Given the description of an element on the screen output the (x, y) to click on. 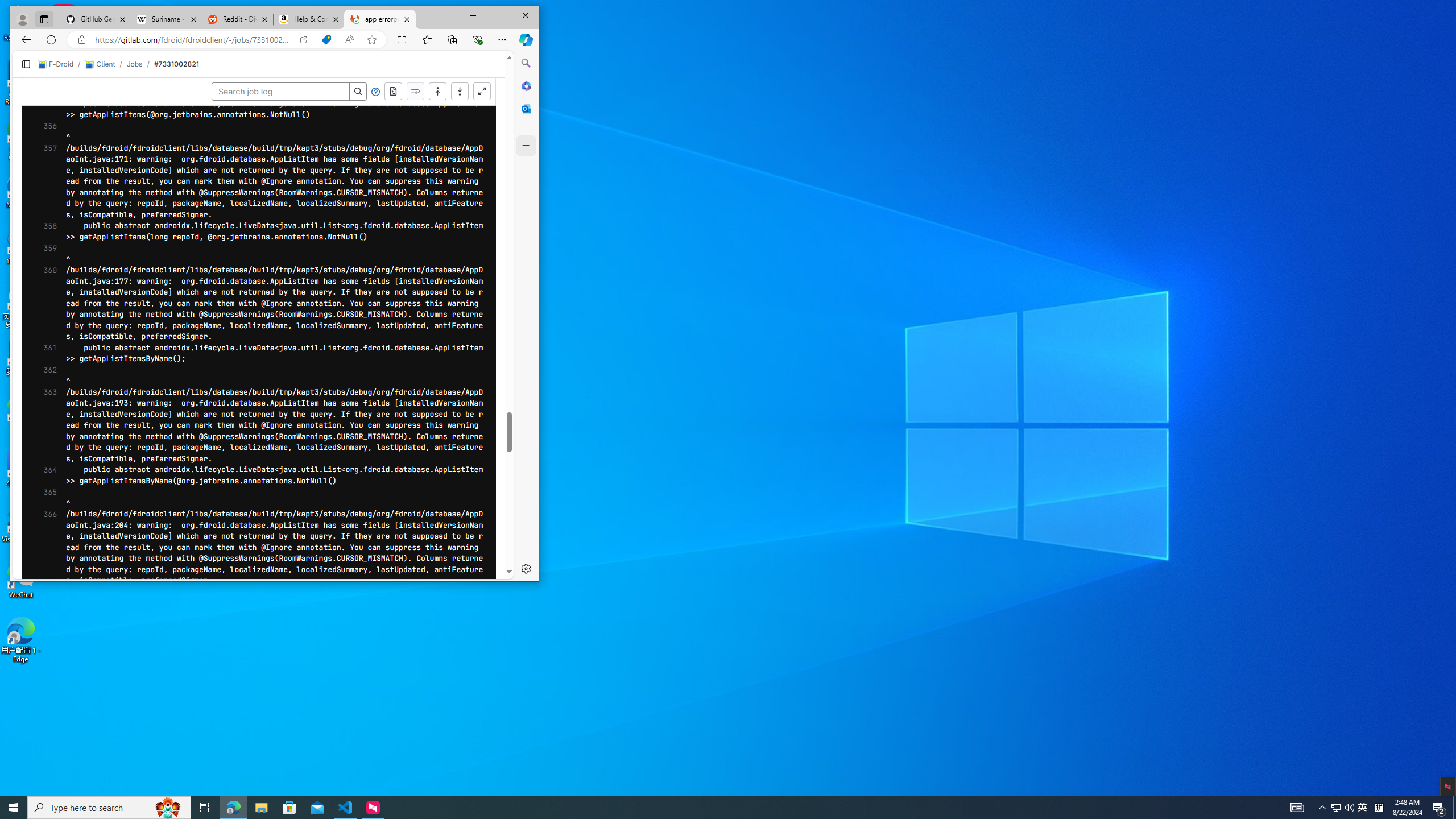
438 (41, 566)
417 (41, 477)
Show full screen (1394, 81)
Running applications (707, 807)
Show complete raw (1305, 81)
443 (41, 622)
427 (41, 444)
Suriname - Wikipedia (253, 9)
394 (41, 78)
401 (41, 155)
F-Droid/ (185, 54)
Notification Chevron (1322, 807)
433 (41, 510)
